Given the description of an element on the screen output the (x, y) to click on. 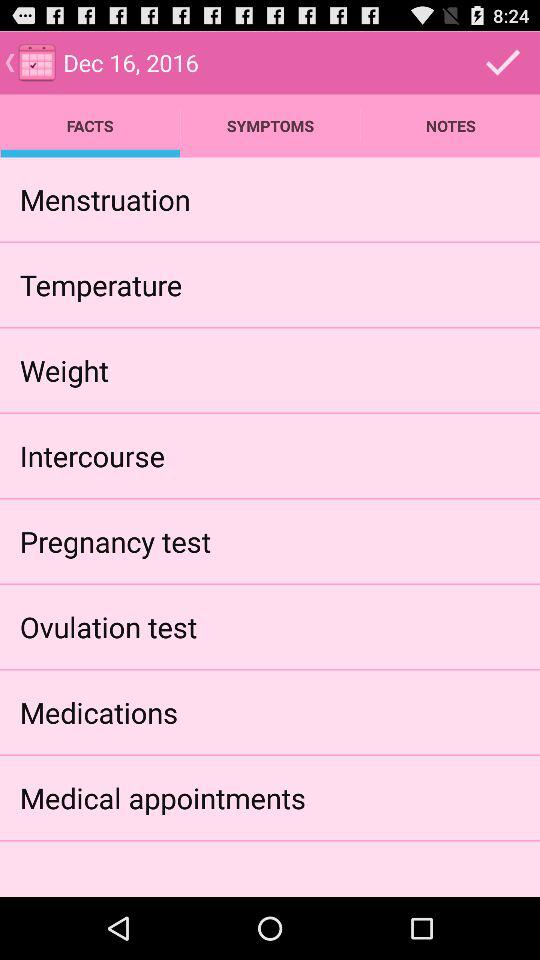
turn on icon below intercourse app (115, 540)
